Given the description of an element on the screen output the (x, y) to click on. 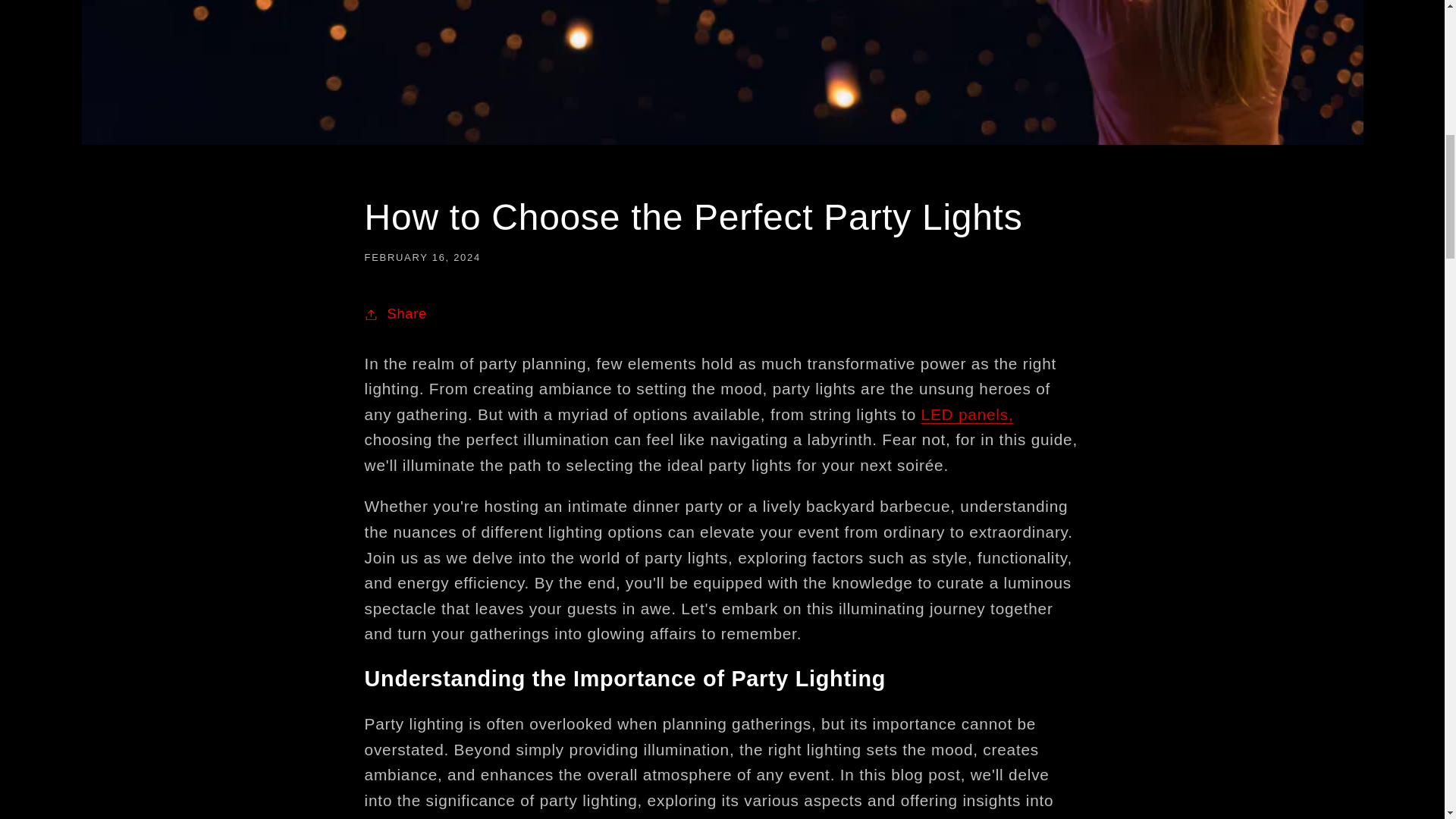
LED panels, (967, 414)
